Given the description of an element on the screen output the (x, y) to click on. 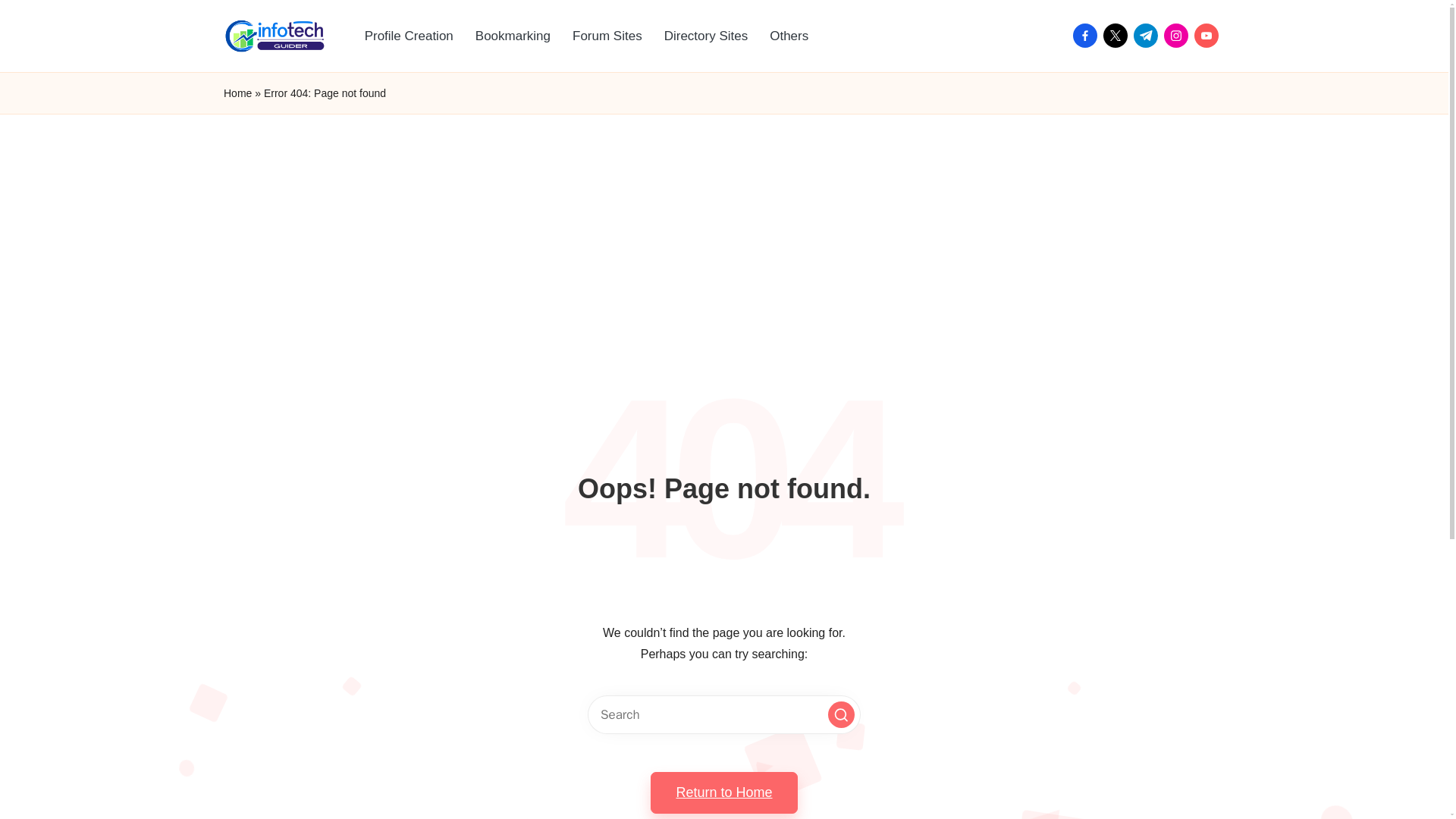
instagram.com (1178, 35)
t.me (1148, 35)
youtube.com (1208, 35)
Directory Sites (705, 36)
Return to Home (723, 792)
twitter.com (1118, 35)
facebook.com (1088, 35)
Home (237, 93)
Others (788, 36)
Profile Creation (408, 36)
